Given the description of an element on the screen output the (x, y) to click on. 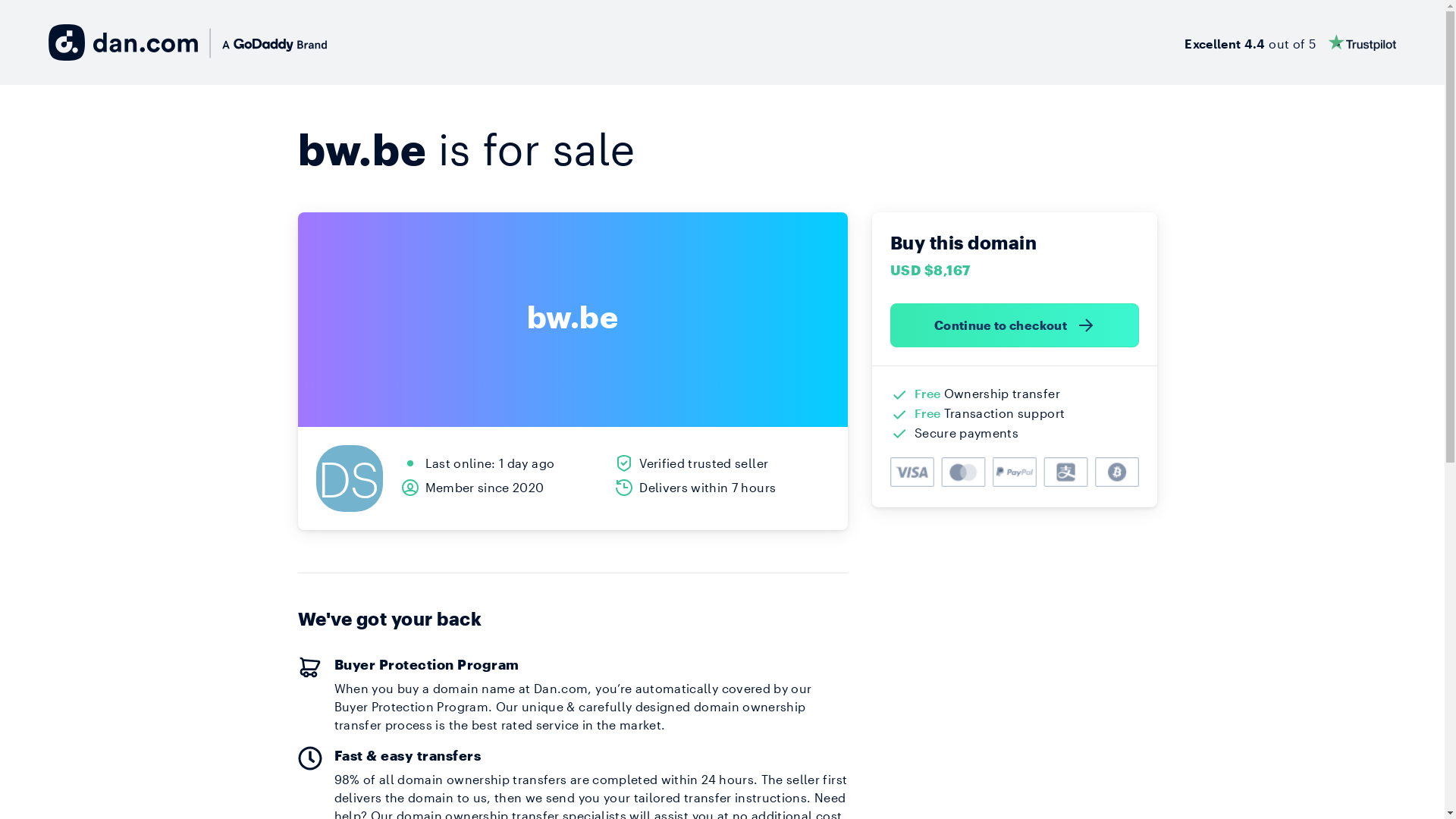
Excellent 4.4 out of 5 Element type: text (1290, 42)
Continue to checkout
) Element type: text (1014, 325)
